Given the description of an element on the screen output the (x, y) to click on. 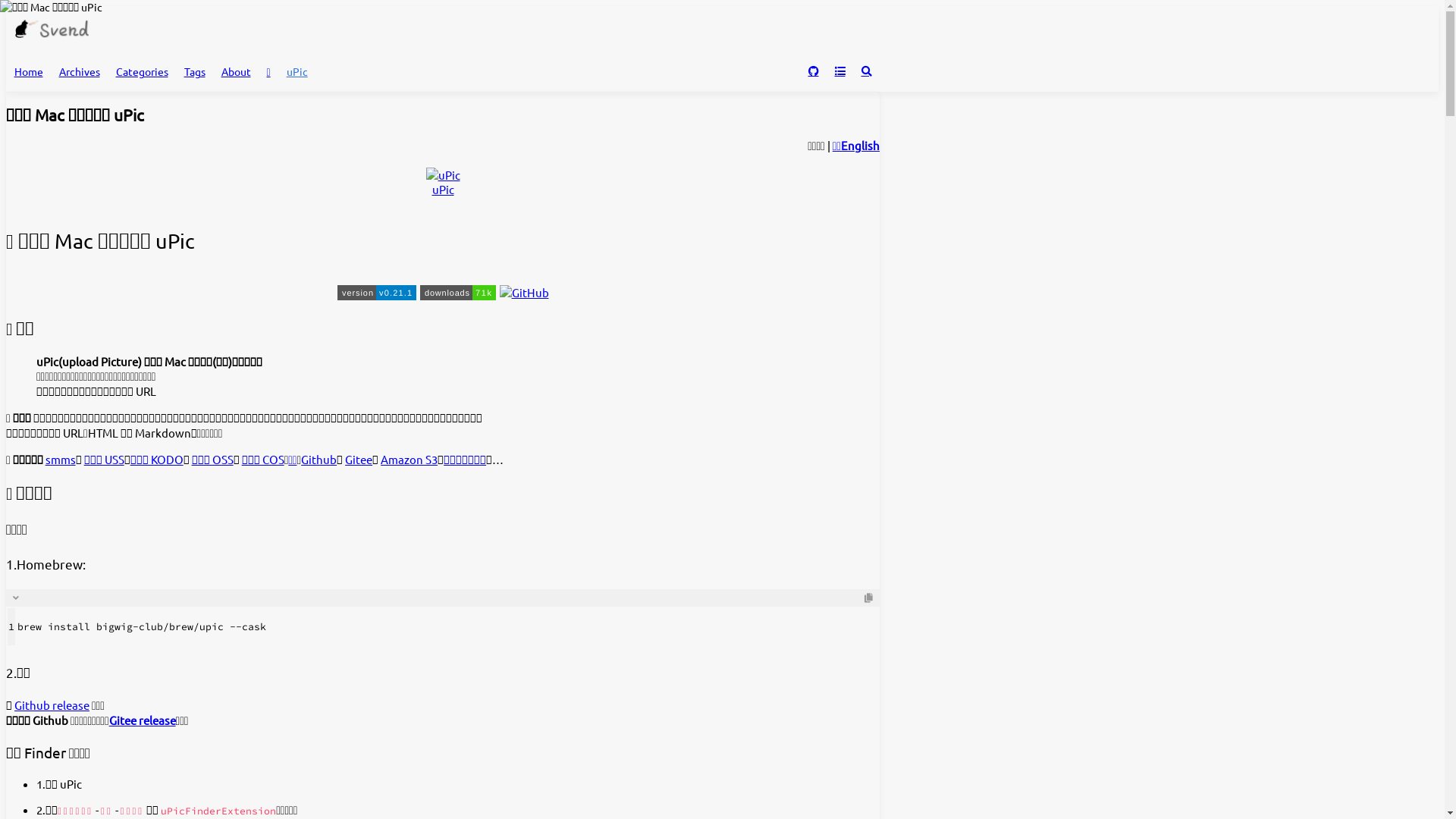
Archives Element type: text (78, 71)
Github release Element type: text (51, 704)
Home Element type: text (28, 71)
smms Element type: text (60, 458)
uPic Element type: text (442, 188)
uPic Element type: text (296, 71)
Download on GitHub Element type: hover (813, 71)
Github Element type: text (318, 458)
About Element type: text (235, 71)
Tags Element type: text (194, 71)
Categories Element type: text (141, 71)
Gitee release Element type: text (142, 719)
Gitee Element type: text (358, 458)
Amazon S3 Element type: text (408, 458)
Copy Element type: hover (868, 597)
